Given the description of an element on the screen output the (x, y) to click on. 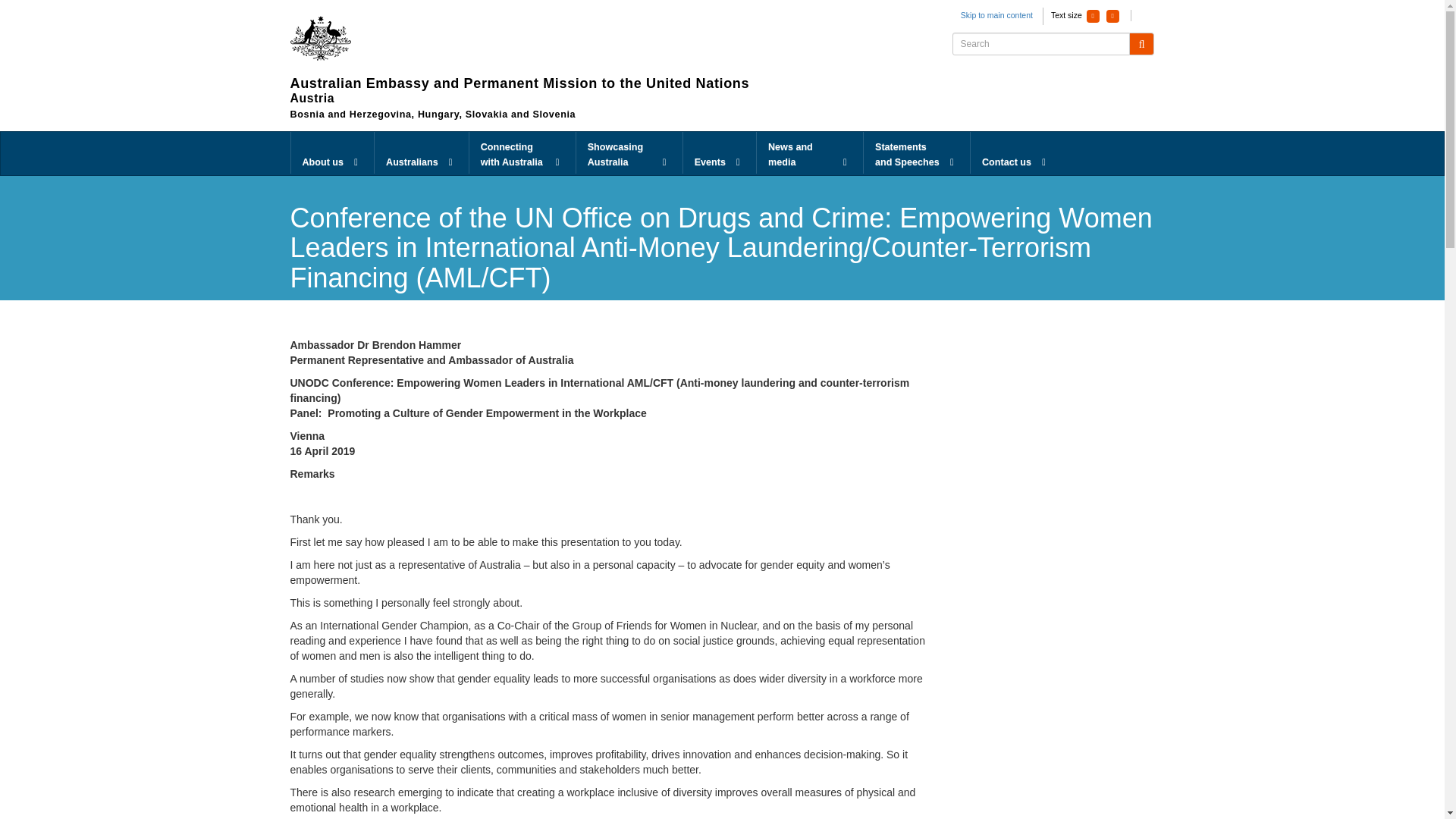
Showcasing Australia   (629, 153)
Reduce text size. (1092, 15)
Statements and Speeches   (916, 153)
Australians   (421, 153)
News and media   (810, 153)
Increase text size. (1112, 15)
Events   (718, 153)
About us   (332, 153)
Skip to main content (996, 14)
Connecting with Australia   (521, 153)
